Given the description of an element on the screen output the (x, y) to click on. 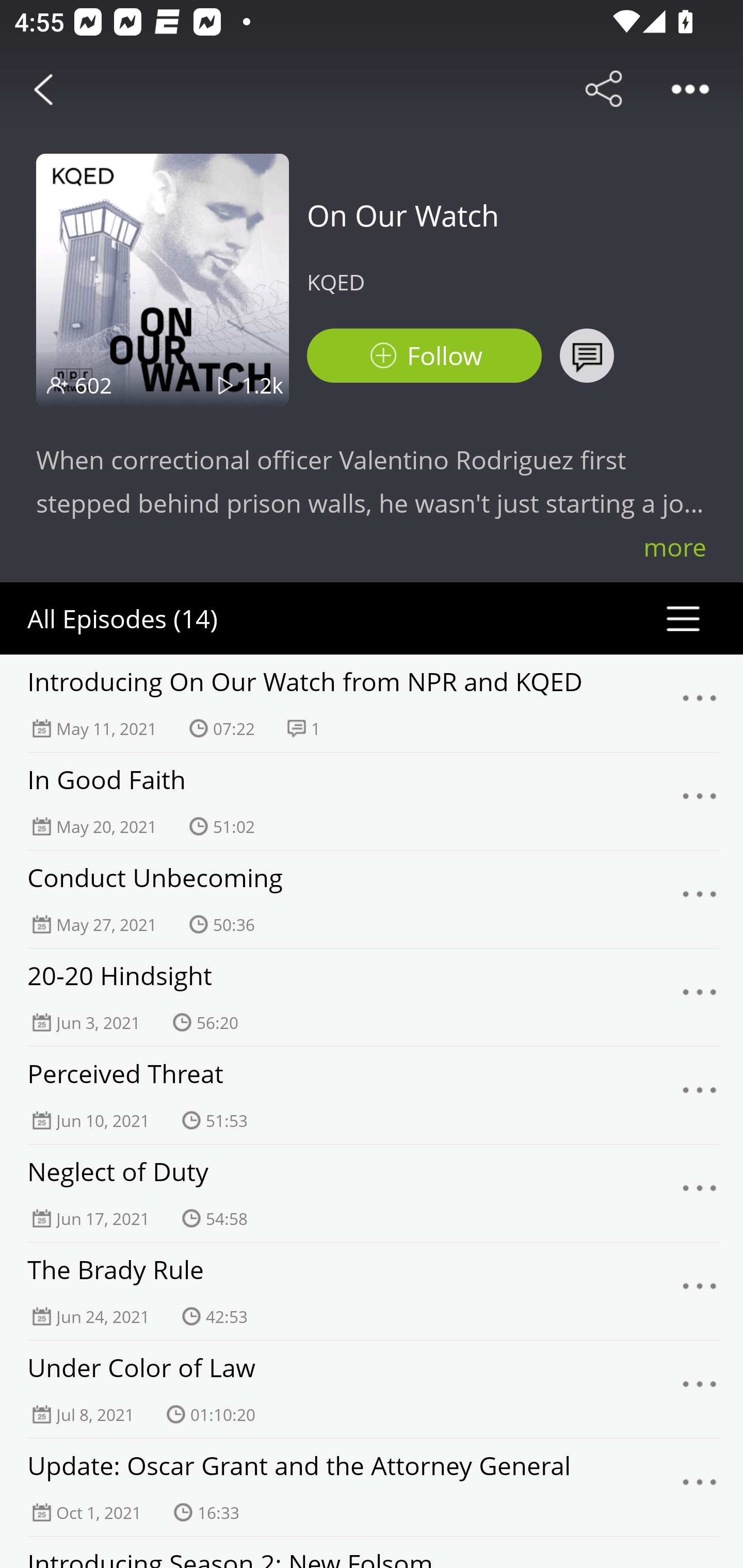
Back (43, 88)
Podbean Follow (423, 355)
602 (93, 384)
more (674, 546)
Menu (699, 703)
In Good Faith May 20, 2021 51:02 Menu (371, 800)
Menu (699, 801)
Conduct Unbecoming May 27, 2021 50:36 Menu (371, 898)
Menu (699, 899)
20-20 Hindsight Jun 3, 2021 56:20 Menu (371, 996)
Menu (699, 997)
Perceived Threat Jun 10, 2021 51:53 Menu (371, 1094)
Menu (699, 1095)
Neglect of Duty Jun 17, 2021 54:58 Menu (371, 1192)
Menu (699, 1193)
The Brady Rule Jun 24, 2021 42:53 Menu (371, 1290)
Menu (699, 1291)
Under Color of Law Jul 8, 2021 01:10:20 Menu (371, 1388)
Menu (699, 1389)
Menu (699, 1487)
